Given the description of an element on the screen output the (x, y) to click on. 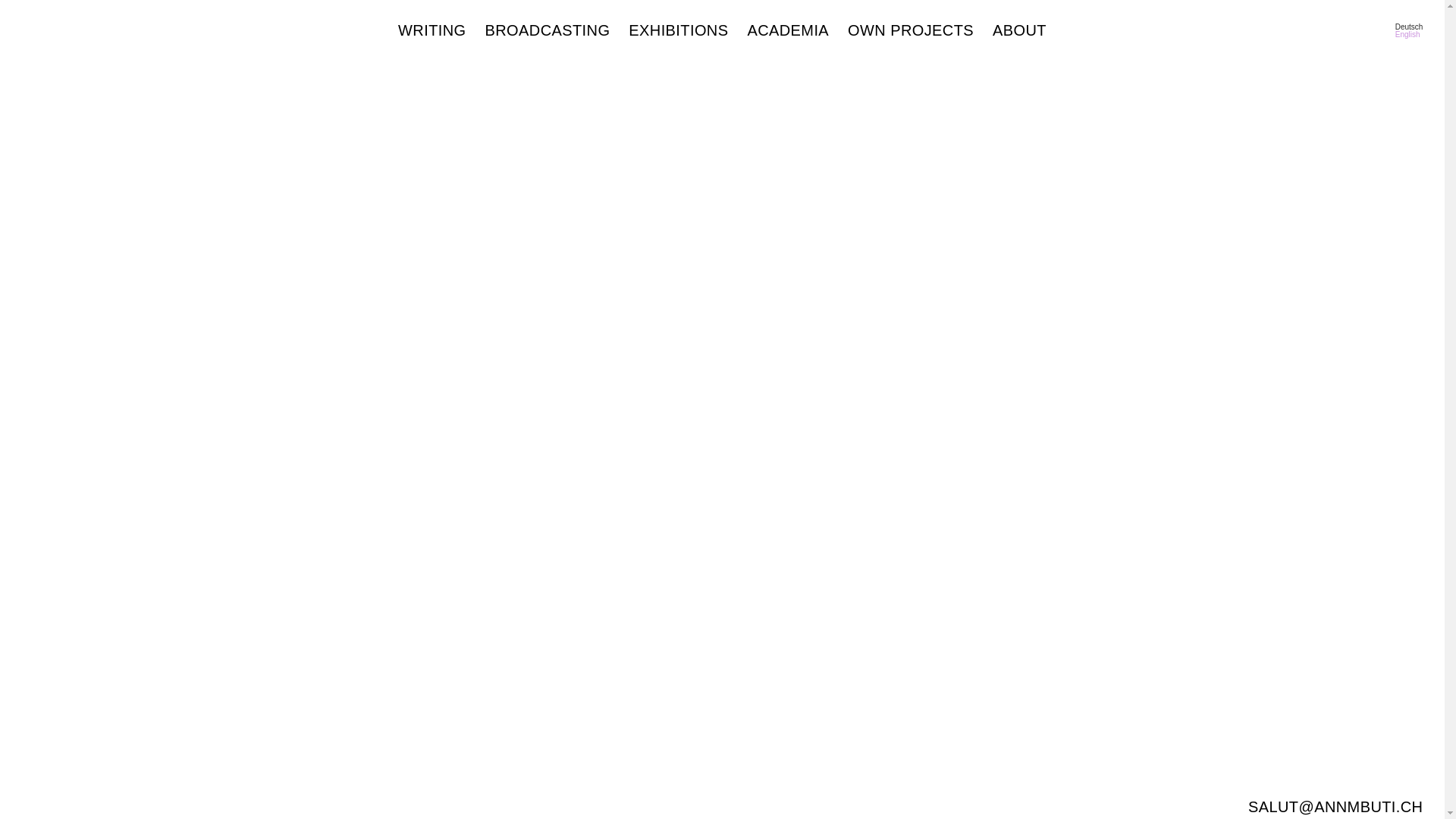
SALUT@ANNMBUTI.CH Element type: text (1335, 806)
ABOUT Element type: text (1019, 29)
EXHIBITIONS Element type: text (678, 29)
BROADCASTING Element type: text (547, 29)
OWN PROJECTS Element type: text (910, 29)
Deutsch Element type: text (1409, 26)
WRITING Element type: text (431, 29)
English Element type: text (1407, 34)
ACADEMIA Element type: text (787, 29)
